Given the description of an element on the screen output the (x, y) to click on. 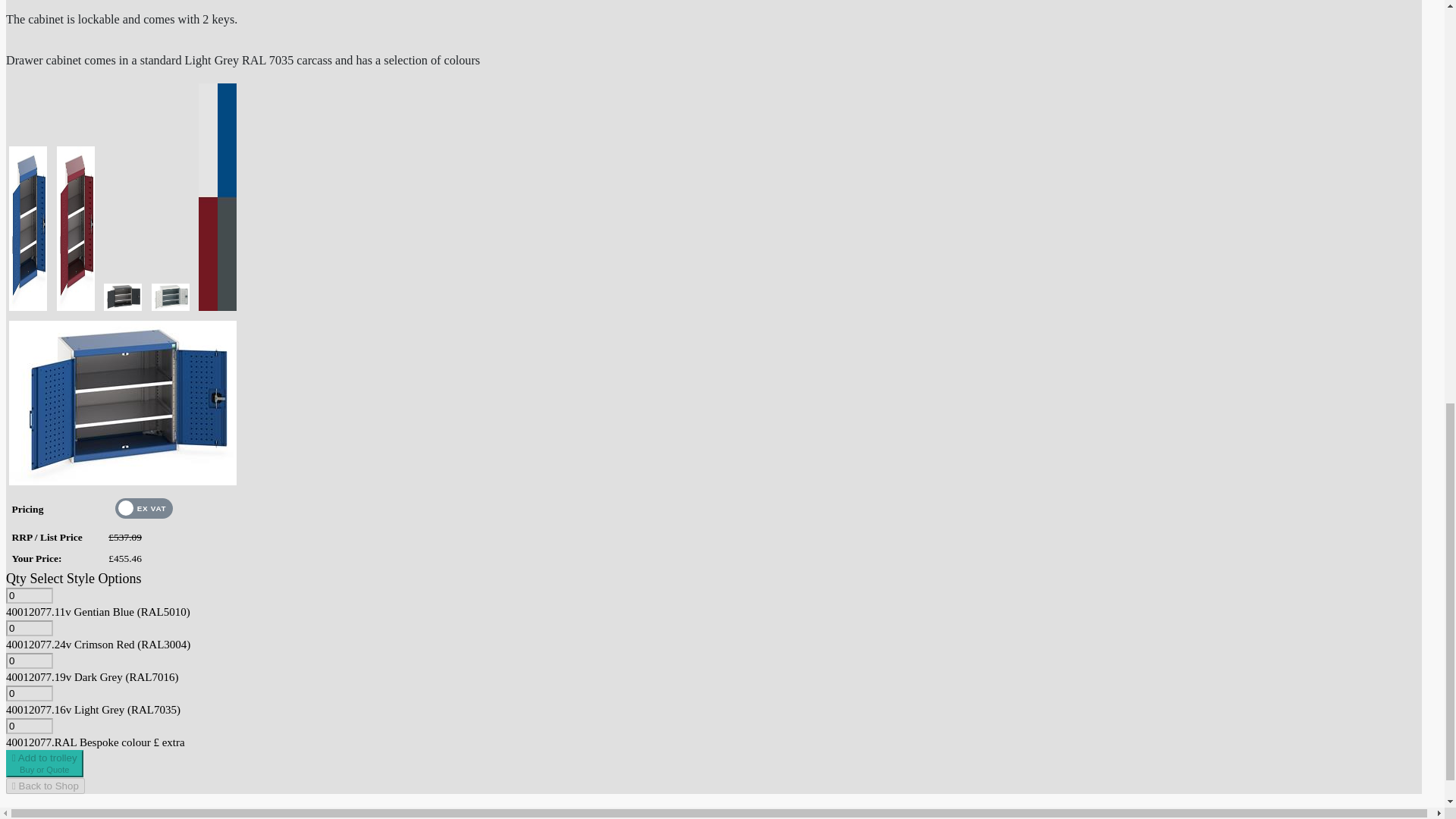
0 (43, 763)
 Back to Shop (28, 595)
Back (44, 785)
0 (44, 785)
0 (28, 660)
0 (28, 693)
0 (28, 725)
